Given the description of an element on the screen output the (x, y) to click on. 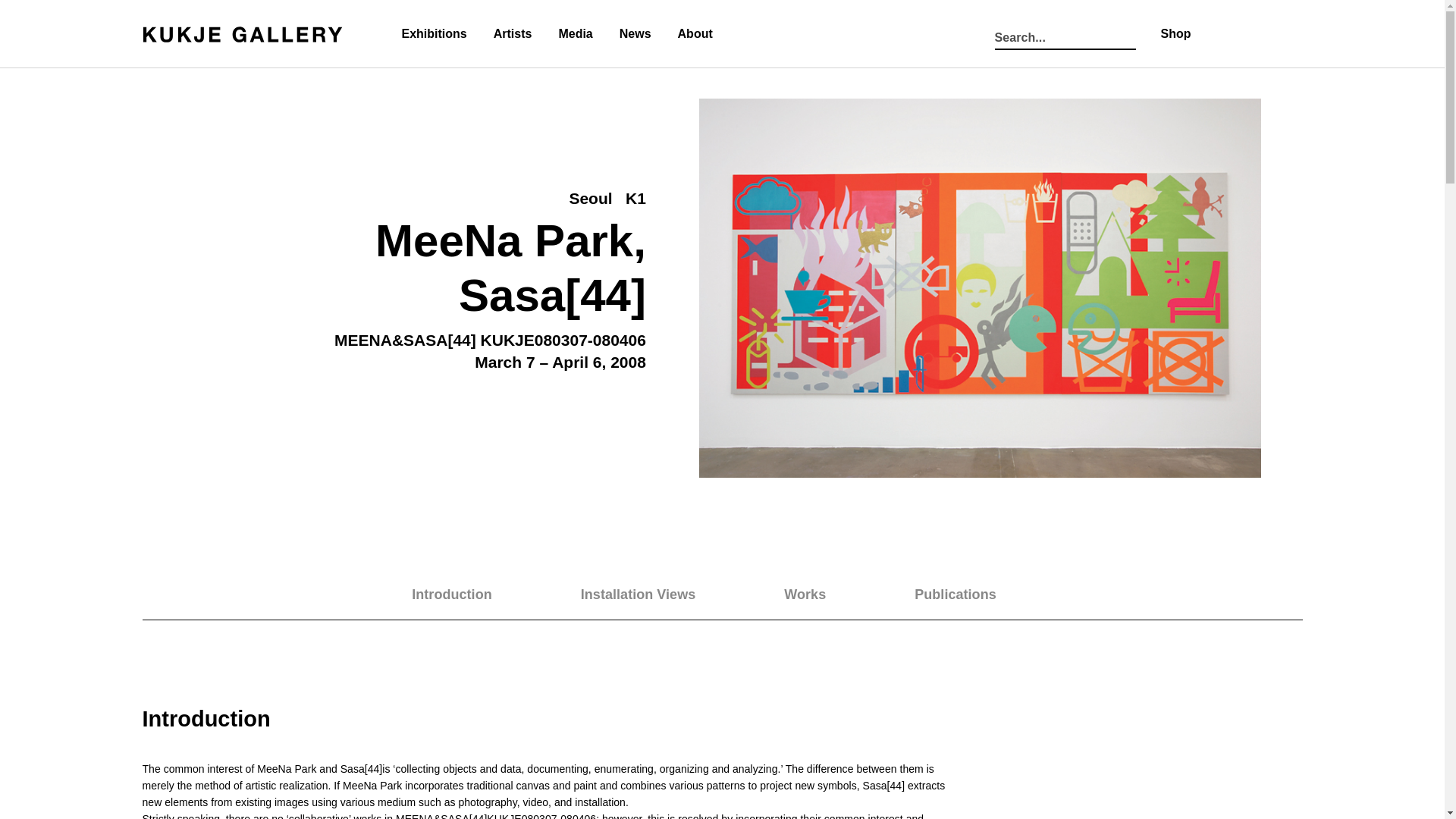
MeeNa Park (504, 240)
Artists (512, 35)
Publications (974, 594)
Works (722, 599)
Installation Views (822, 594)
Works (656, 594)
Installation Views (822, 594)
Publications (656, 594)
Shop (973, 596)
Introduction (974, 594)
Works (722, 599)
